Given the description of an element on the screen output the (x, y) to click on. 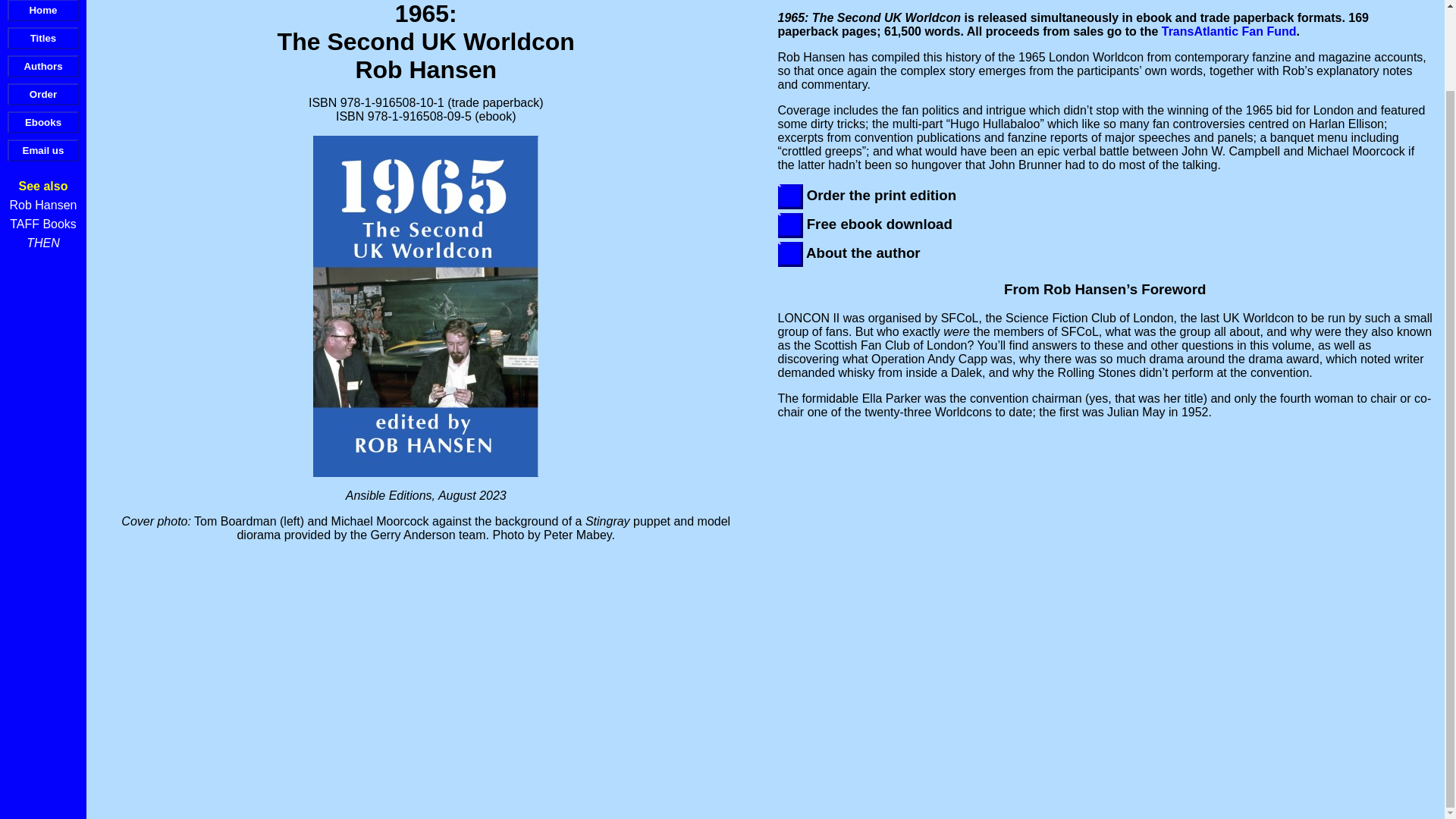
TAFF Books (43, 223)
TransAtlantic Fan Fund (1229, 31)
Authors (42, 65)
Order (42, 94)
Home (42, 10)
Email us (42, 150)
Ebooks (42, 122)
Rob Hansen (43, 205)
THEN (42, 242)
Titles (42, 38)
